Given the description of an element on the screen output the (x, y) to click on. 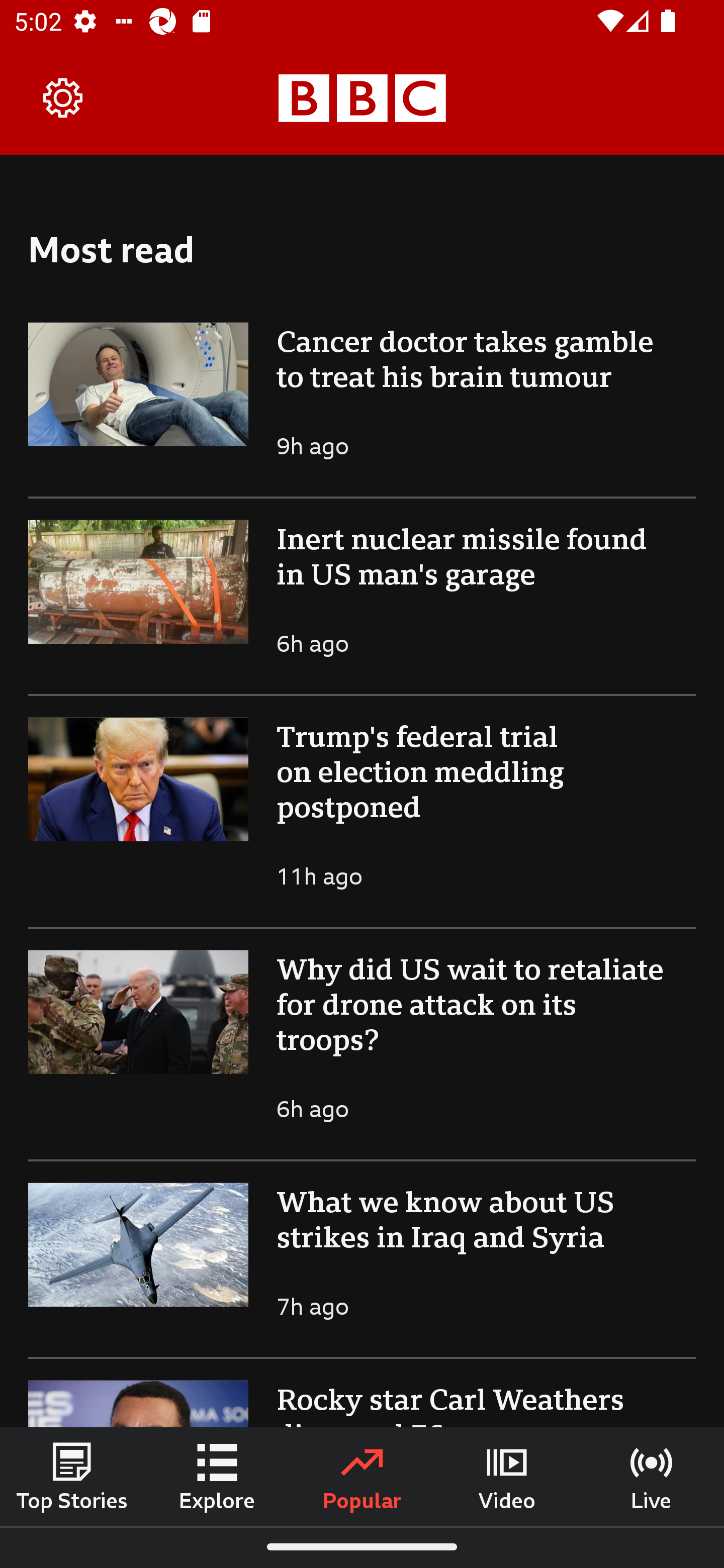
Settings (63, 97)
Top Stories (72, 1475)
Explore (216, 1475)
Video (506, 1475)
Live (651, 1475)
